Given the description of an element on the screen output the (x, y) to click on. 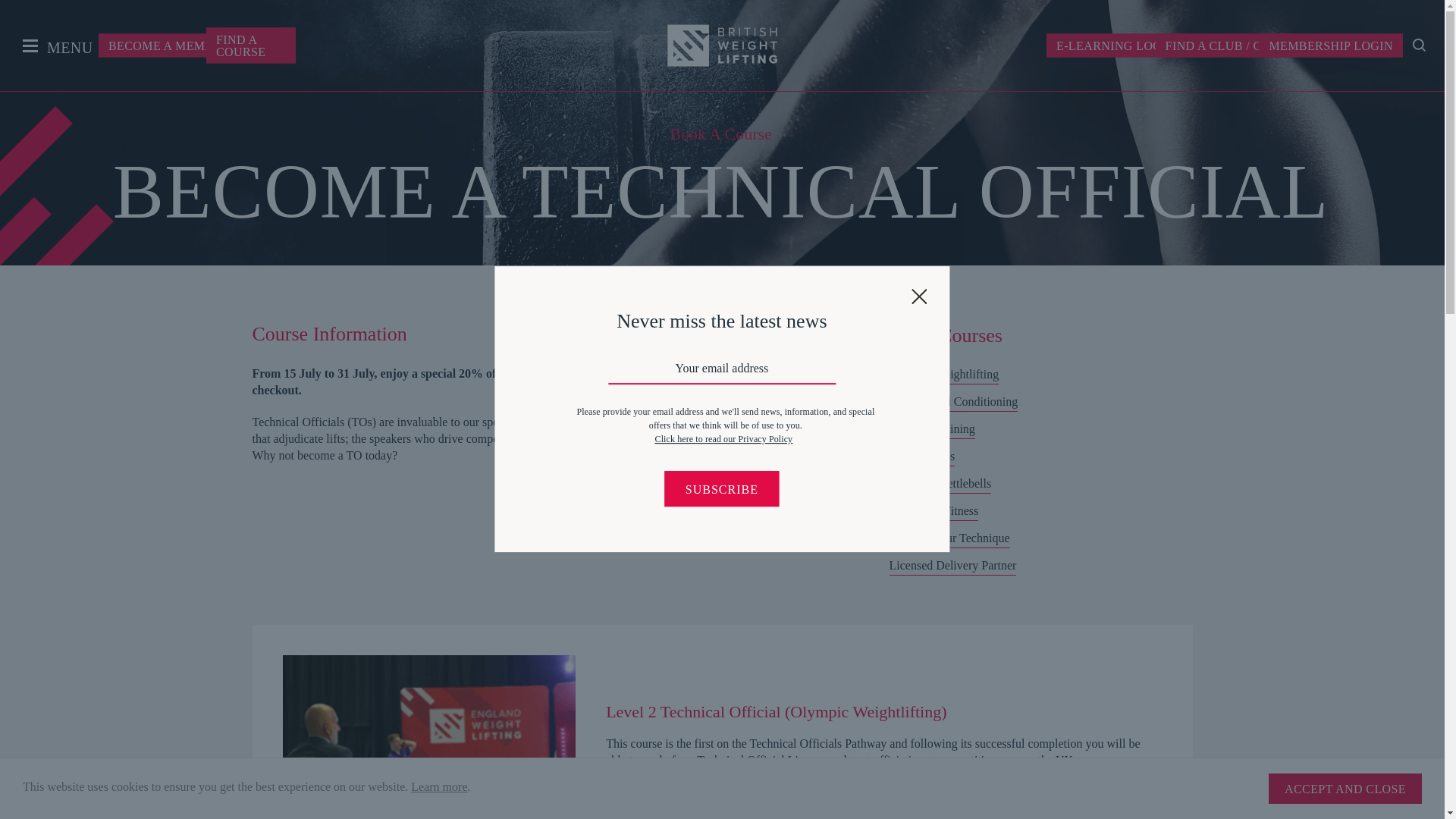
FIND A COURSE (250, 45)
BECOME A MEMBER (169, 44)
